Given the description of an element on the screen output the (x, y) to click on. 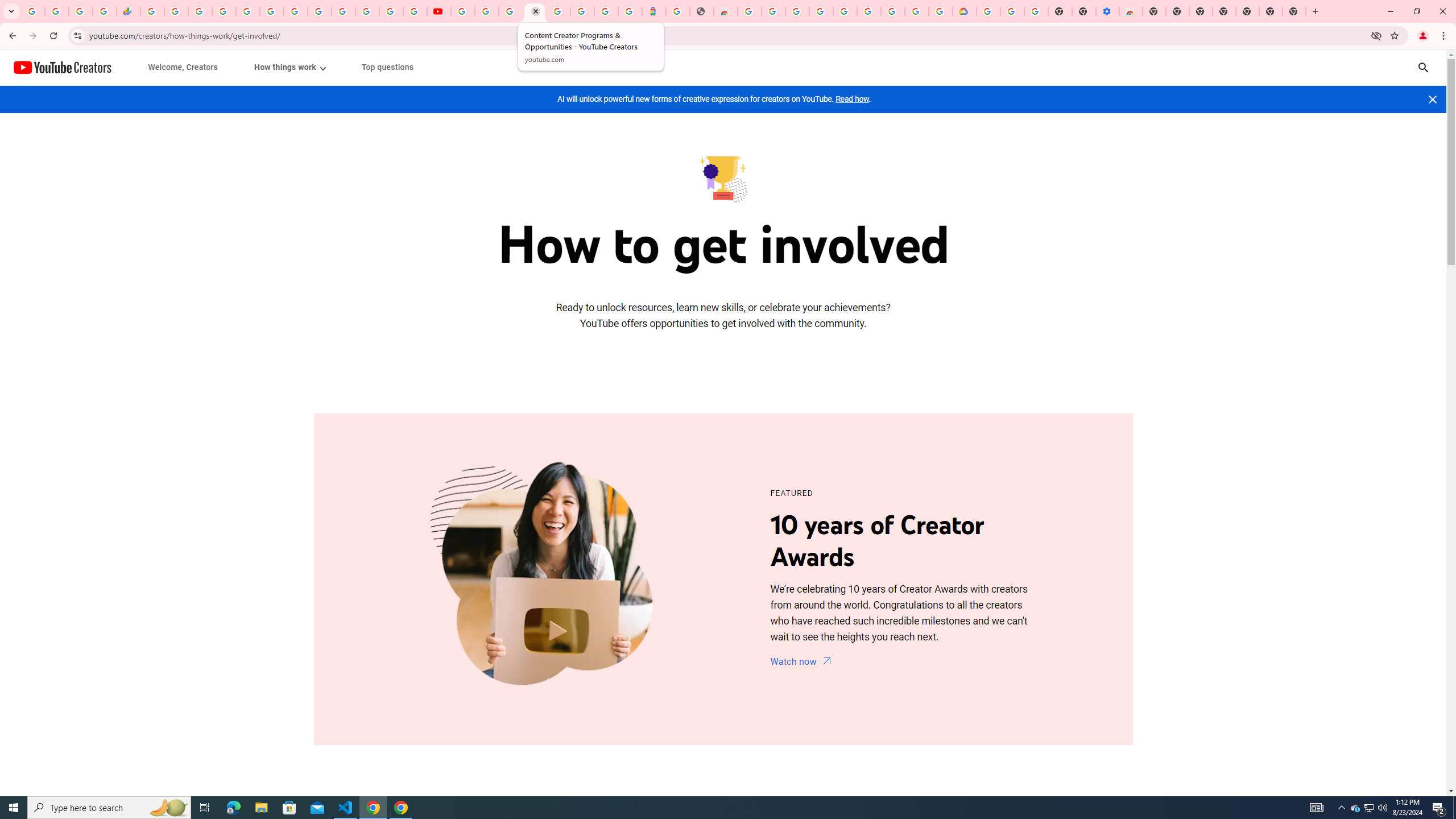
Sign in - Google Accounts (916, 11)
Chrome Web Store - Household (725, 11)
Top questions (387, 67)
